Given the description of an element on the screen output the (x, y) to click on. 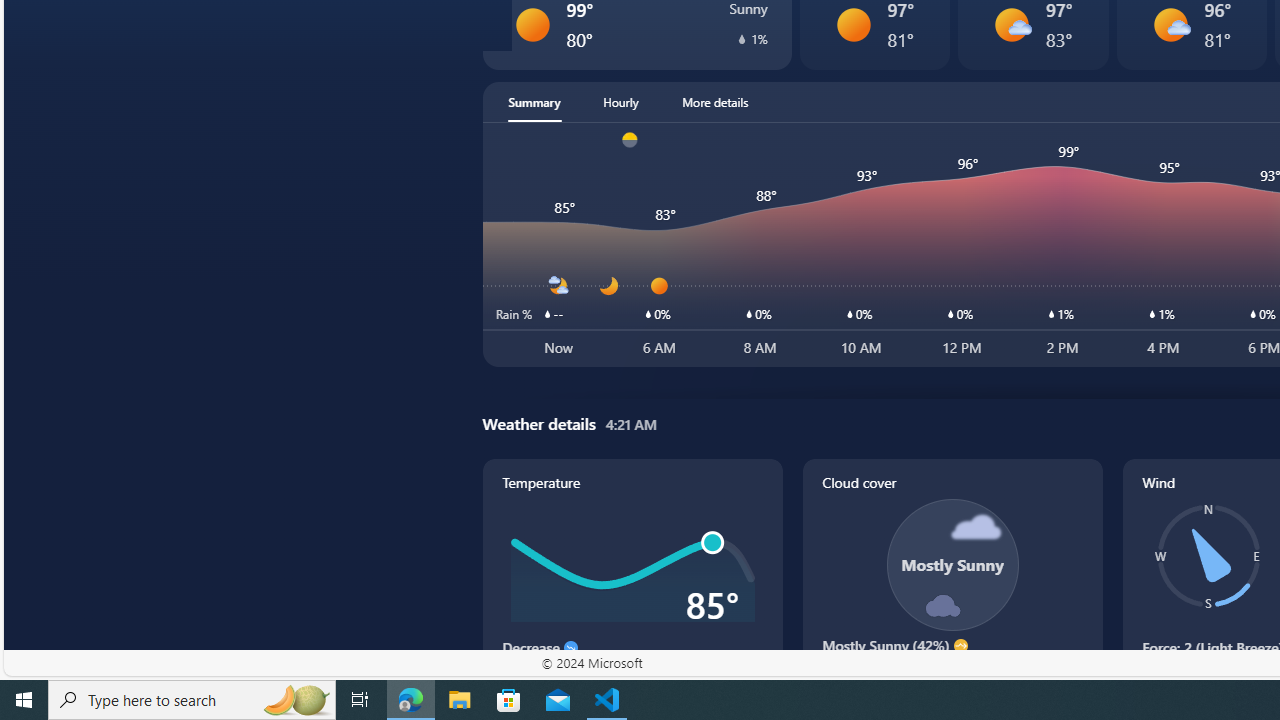
Refresh this page (89, 26)
Class: cloudCoverSvg-DS-ps0R9q (951, 564)
